Given the description of an element on the screen output the (x, y) to click on. 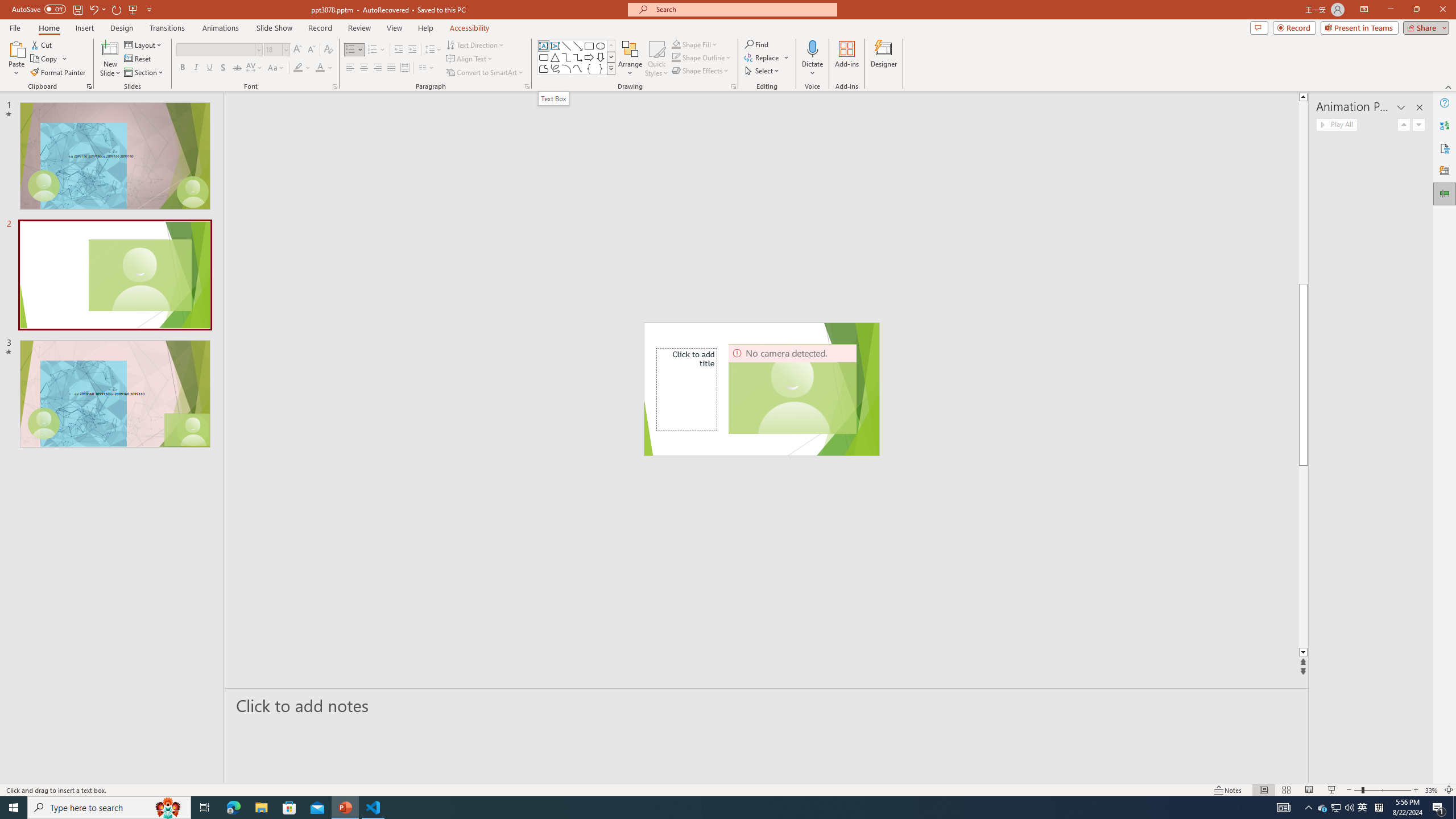
Shape Fill Dark Green, Accent 2 (675, 44)
